Given the description of an element on the screen output the (x, y) to click on. 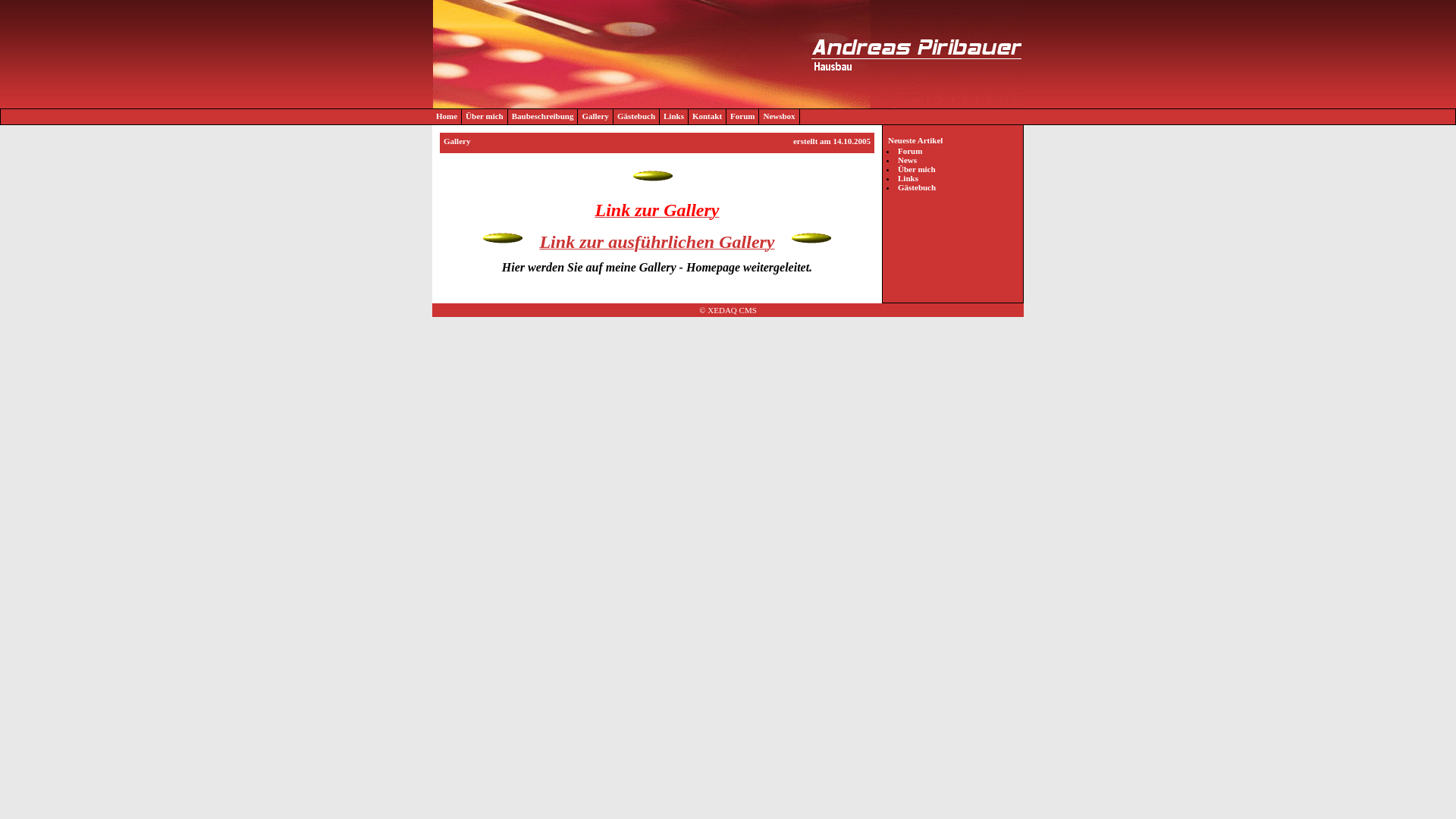
Links Element type: text (673, 116)
Kontakt Element type: text (707, 116)
Links Element type: text (907, 177)
Newsbox Element type: text (779, 116)
Forum Element type: text (742, 116)
Home Element type: text (446, 116)
News Element type: text (906, 159)
Baubeschreibung Element type: text (543, 116)
Forum Element type: text (909, 150)
Gallery Element type: text (594, 116)
Link zur Gallery Element type: text (656, 212)
